Given the description of an element on the screen output the (x, y) to click on. 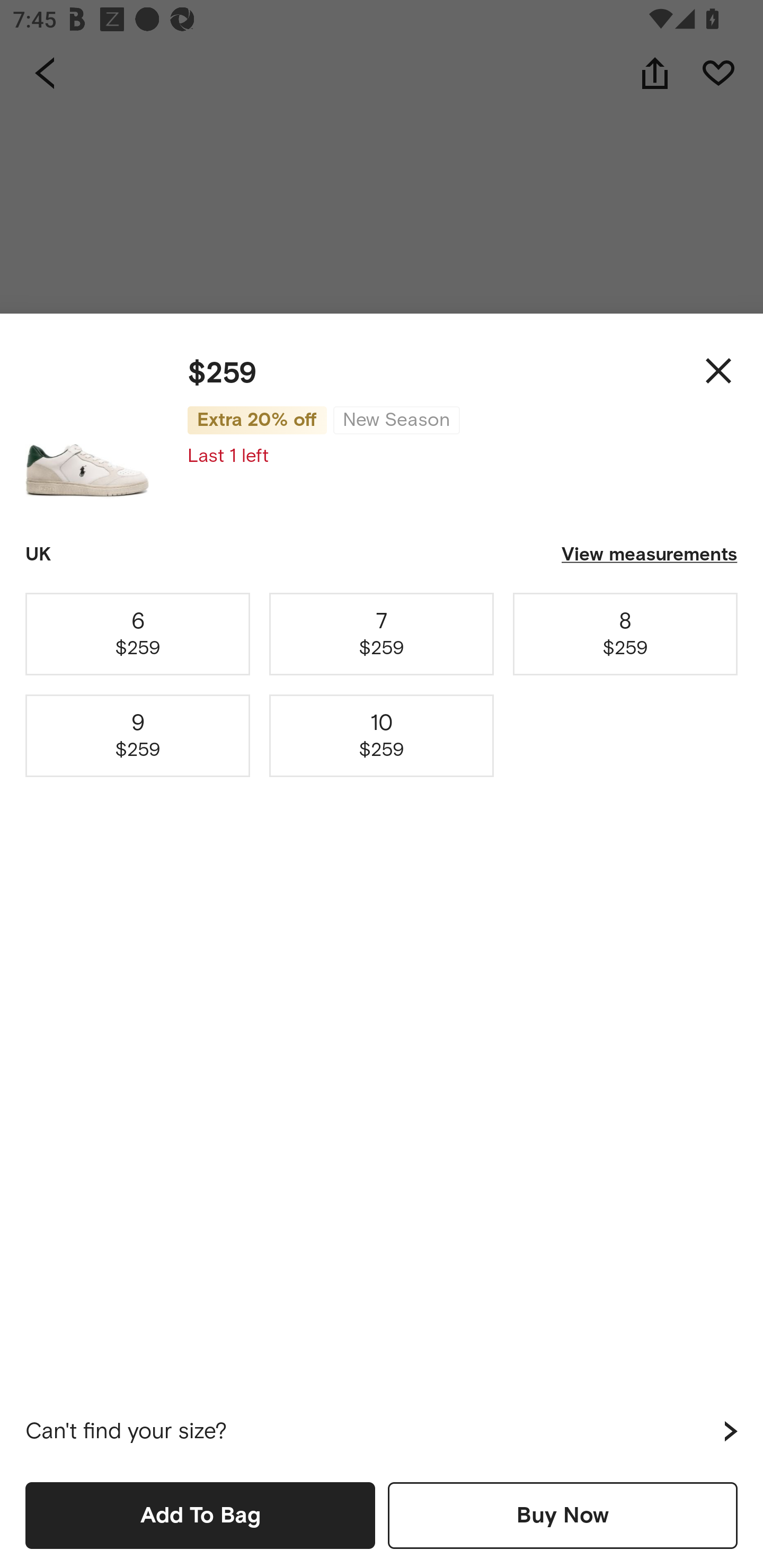
Extra 20% off (256, 419)
6 $259 (137, 633)
7 $259 (381, 633)
8 $259 (624, 633)
9 $259 (137, 735)
10 $259 (381, 735)
Can't find your size? (381, 1431)
Add To Bag (200, 1515)
Buy Now (562, 1515)
